Given the description of an element on the screen output the (x, y) to click on. 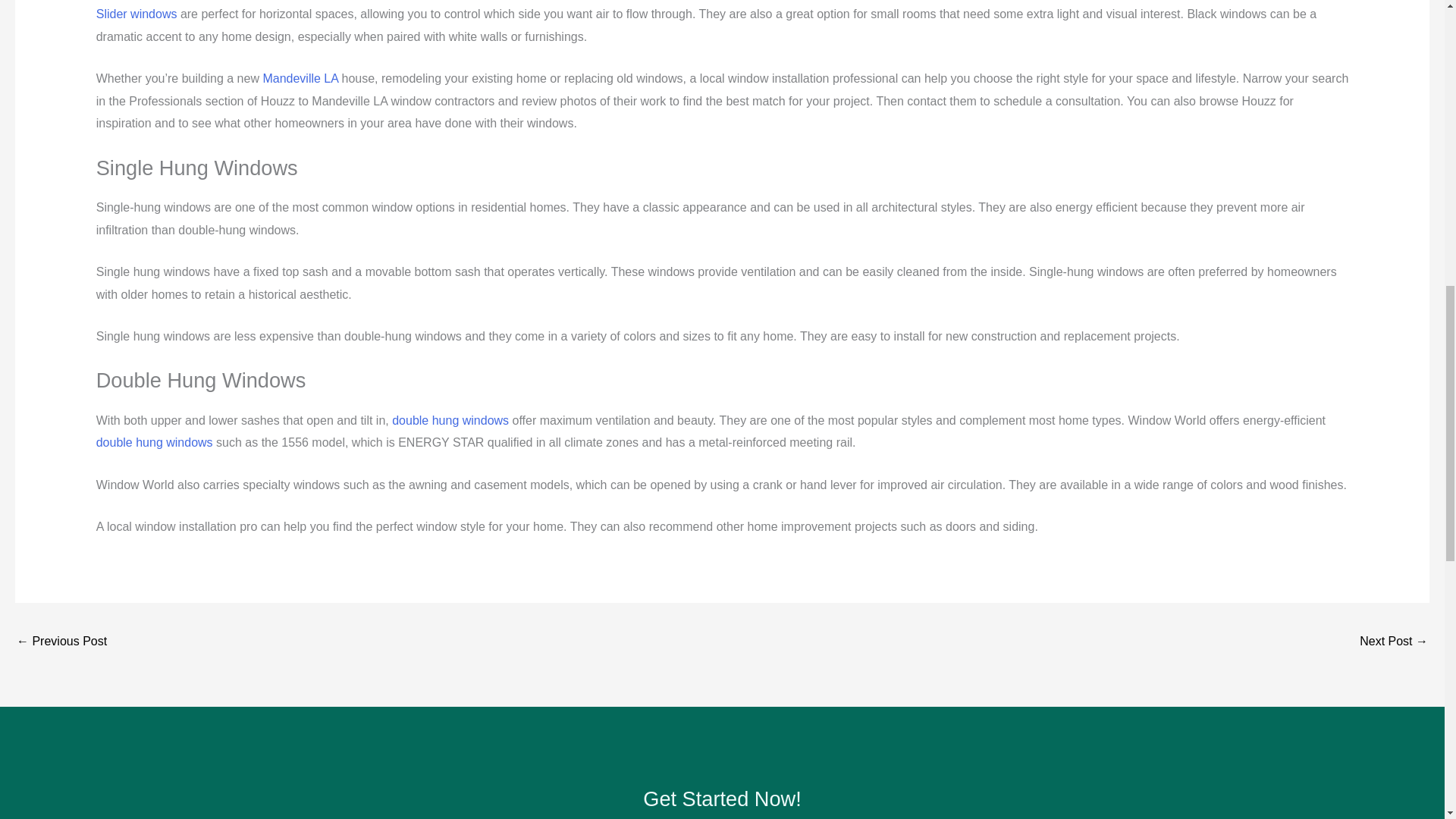
double hung windows (449, 420)
Slider windows (136, 13)
Mandeville LA Front Doors (61, 642)
Mandeville LA (299, 78)
What Custom Doors Can Do For Your Home (1393, 642)
